Given the description of an element on the screen output the (x, y) to click on. 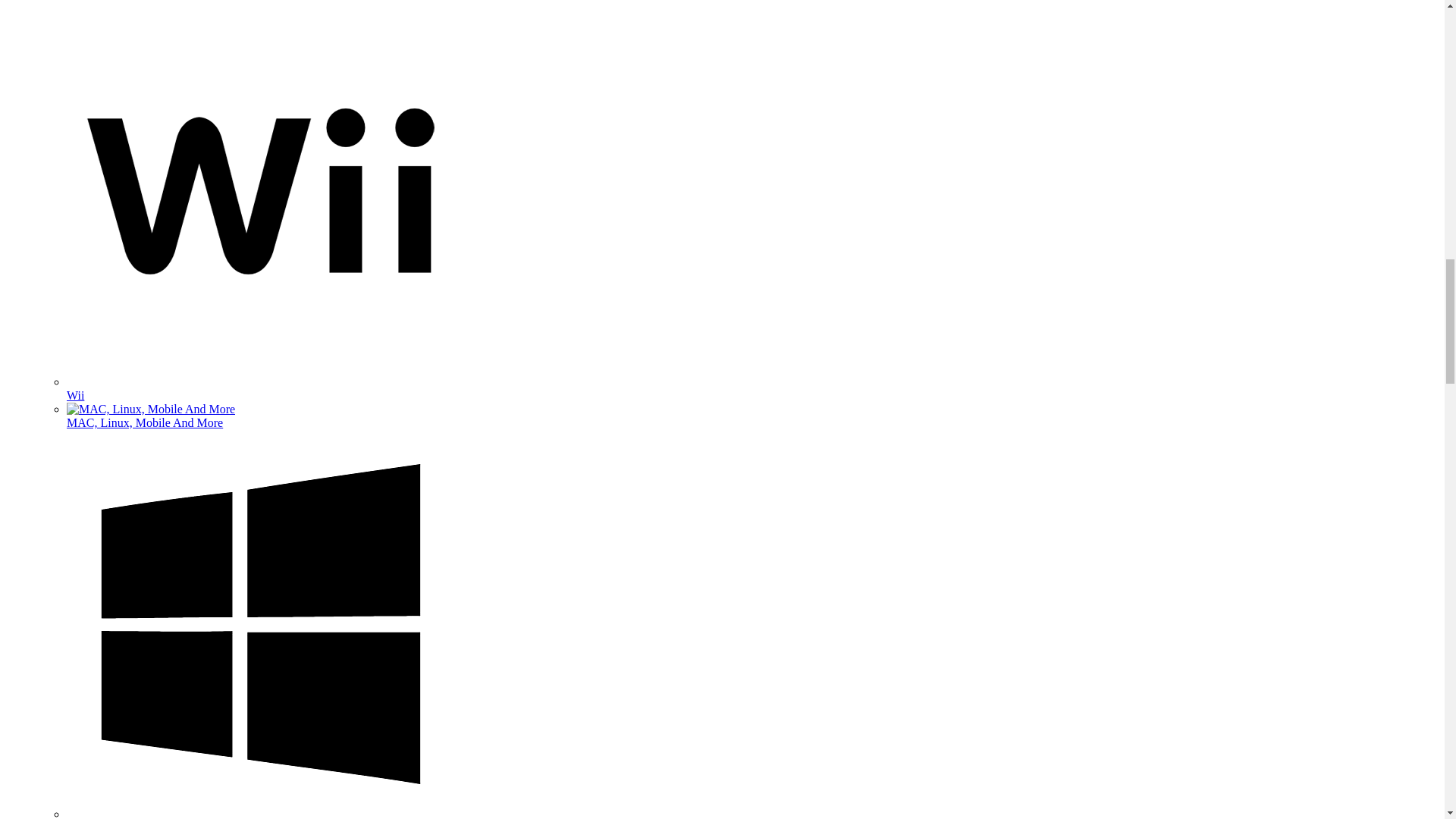
MAC, Linux, Mobile And More (150, 409)
